Given the description of an element on the screen output the (x, y) to click on. 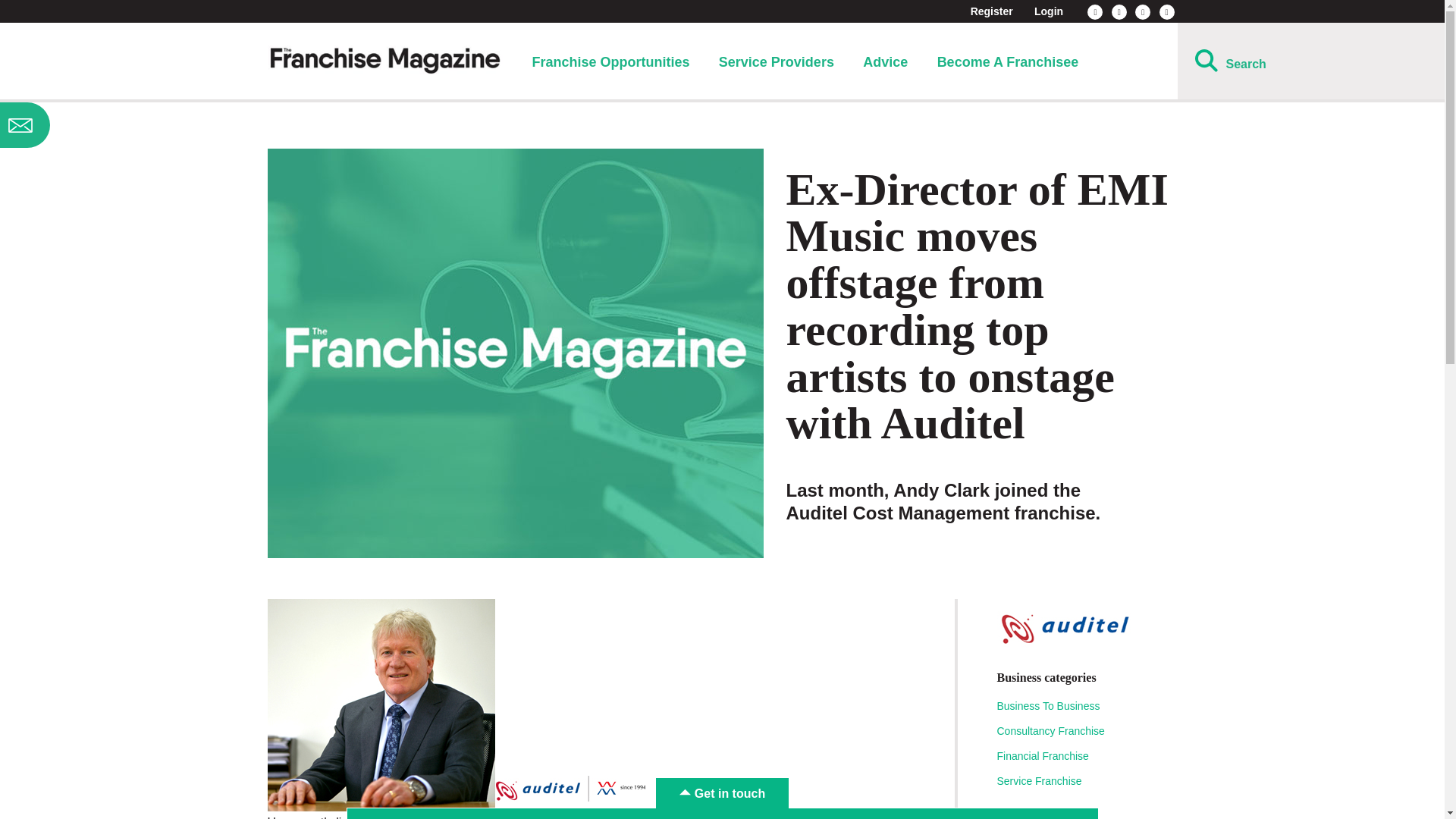
Become A Franchisee (1007, 61)
Login (1047, 10)
Sign up to the newsletter (120, 125)
Register (992, 10)
Service Providers (776, 61)
Service Providers (776, 61)
Advice (885, 61)
Franchise Opportunities (609, 61)
SignupModal (120, 125)
Login (1047, 10)
